Given the description of an element on the screen output the (x, y) to click on. 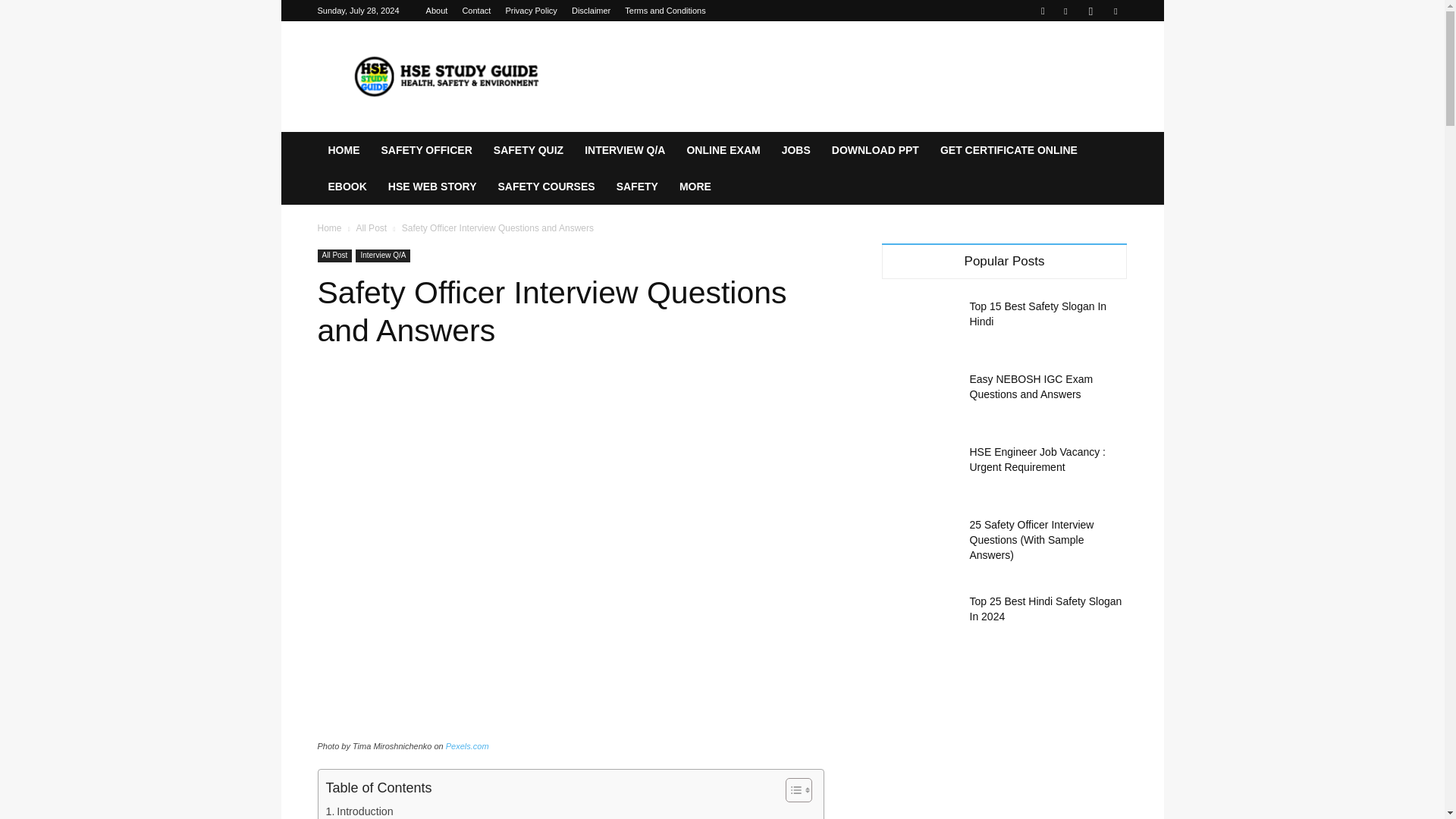
View all posts in All Post (371, 227)
Introduction (359, 811)
Youtube (1114, 10)
Instagram (1090, 10)
Facebook (1065, 10)
